Given the description of an element on the screen output the (x, y) to click on. 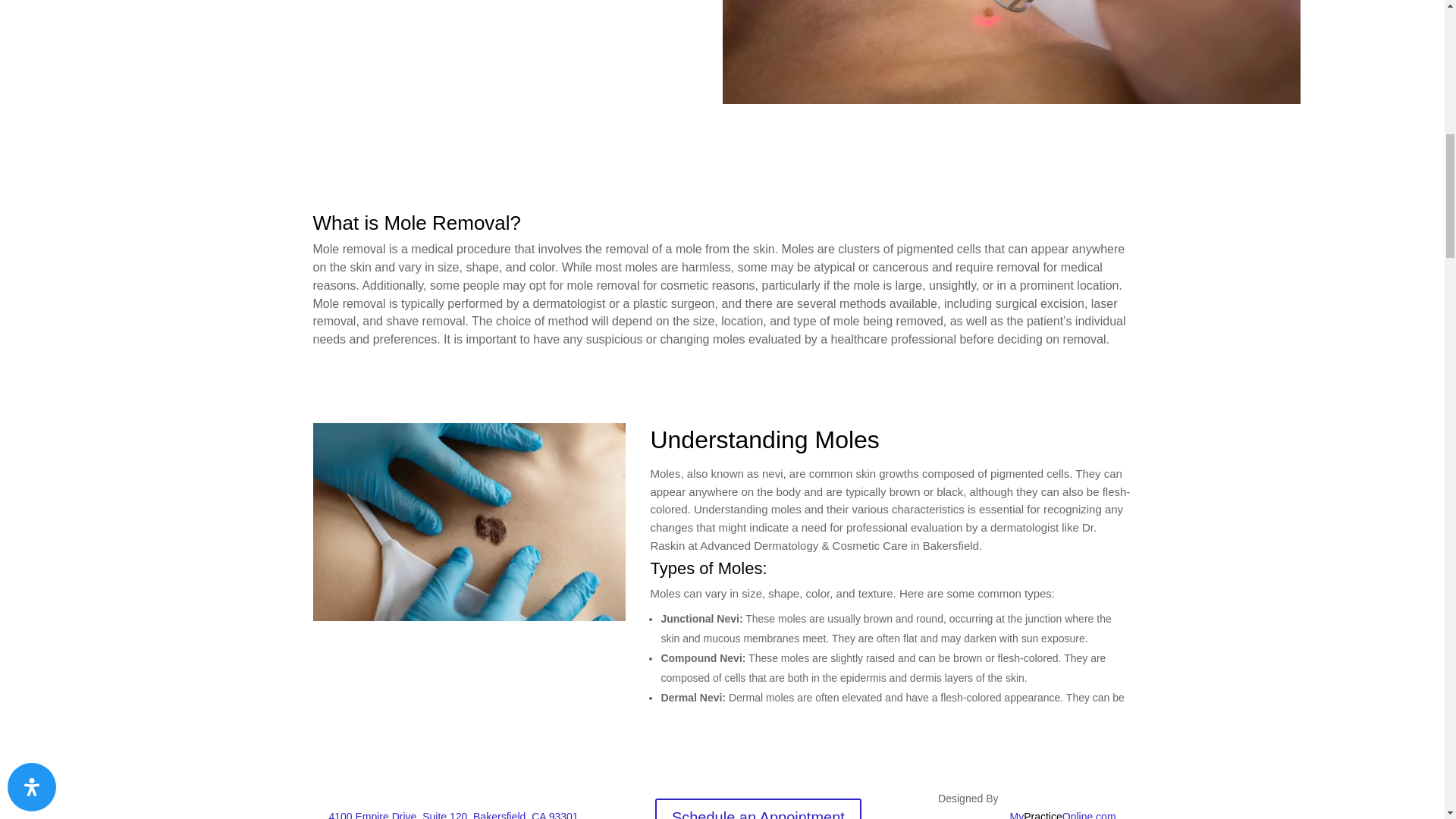
age-spots (469, 521)
medical dermatology woman (1011, 52)
